Given the description of an element on the screen output the (x, y) to click on. 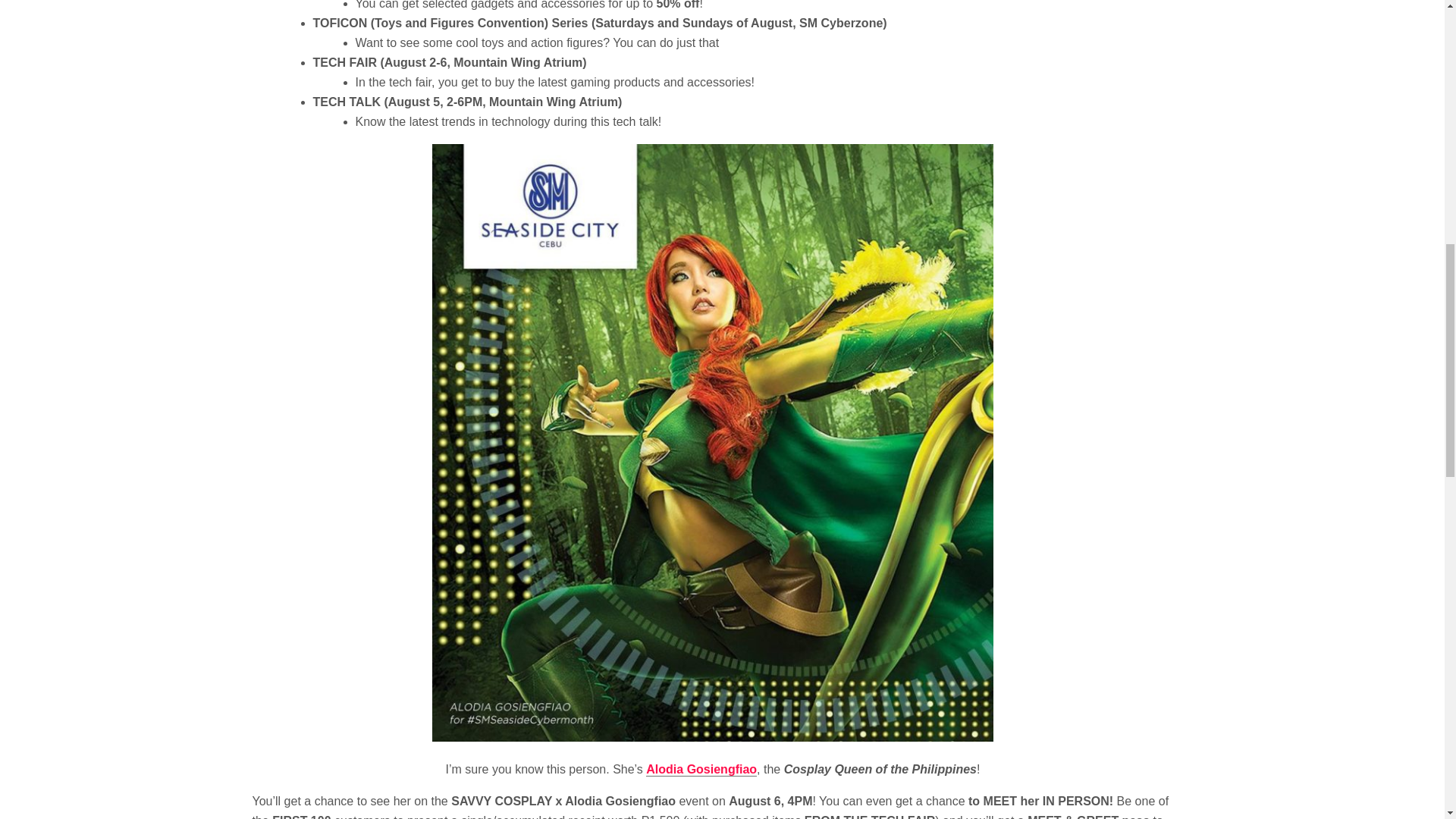
Alodia Gosiengfiao (701, 769)
